Given the description of an element on the screen output the (x, y) to click on. 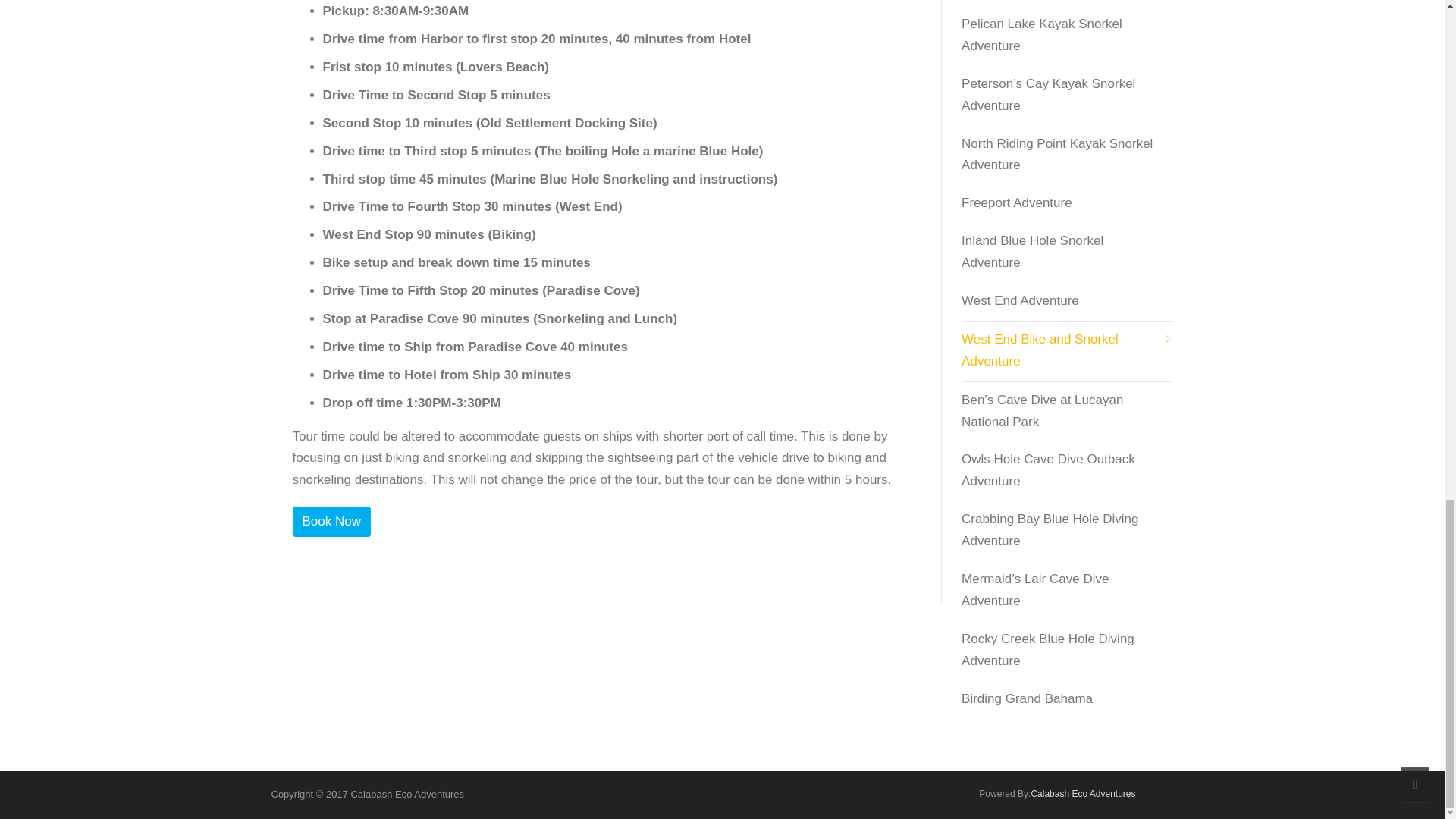
Dover Sound Kayak Eco Adventure (1066, 2)
North Riding Point Kayak Snorkel Adventure (1066, 155)
West End Adventure (1066, 301)
Owls Hole Cave Dive Outback Adventure (1066, 471)
Inland Blue Hole Snorkel Adventure (1066, 252)
Pelican Lake Kayak Snorkel Adventure (1066, 35)
Calabash Eco Adventures (1082, 793)
Crabbing Bay Blue Hole Diving Adventure (1066, 531)
West End Bike and Snorkel Adventure (1066, 351)
Book Now (331, 521)
